Given the description of an element on the screen output the (x, y) to click on. 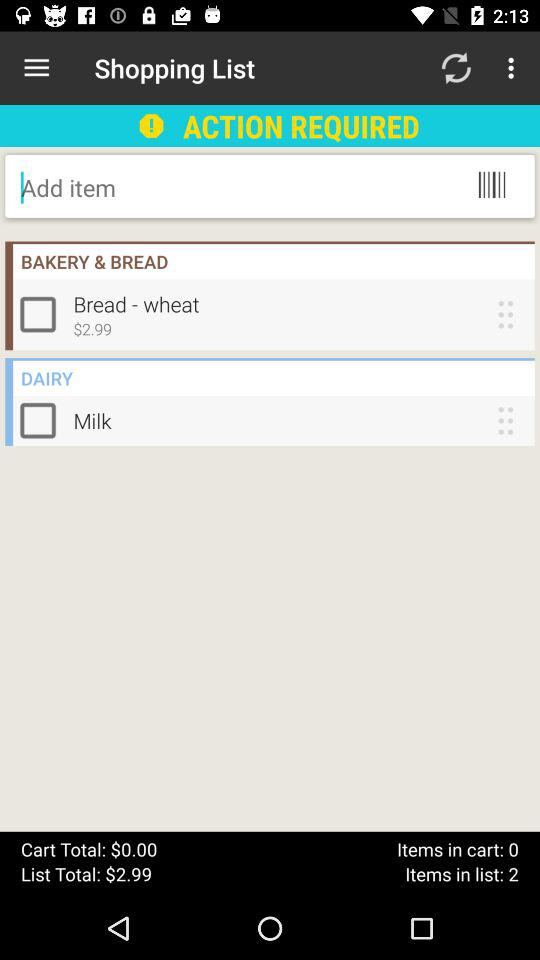
turn on the icon above action required icon (455, 67)
